Given the description of an element on the screen output the (x, y) to click on. 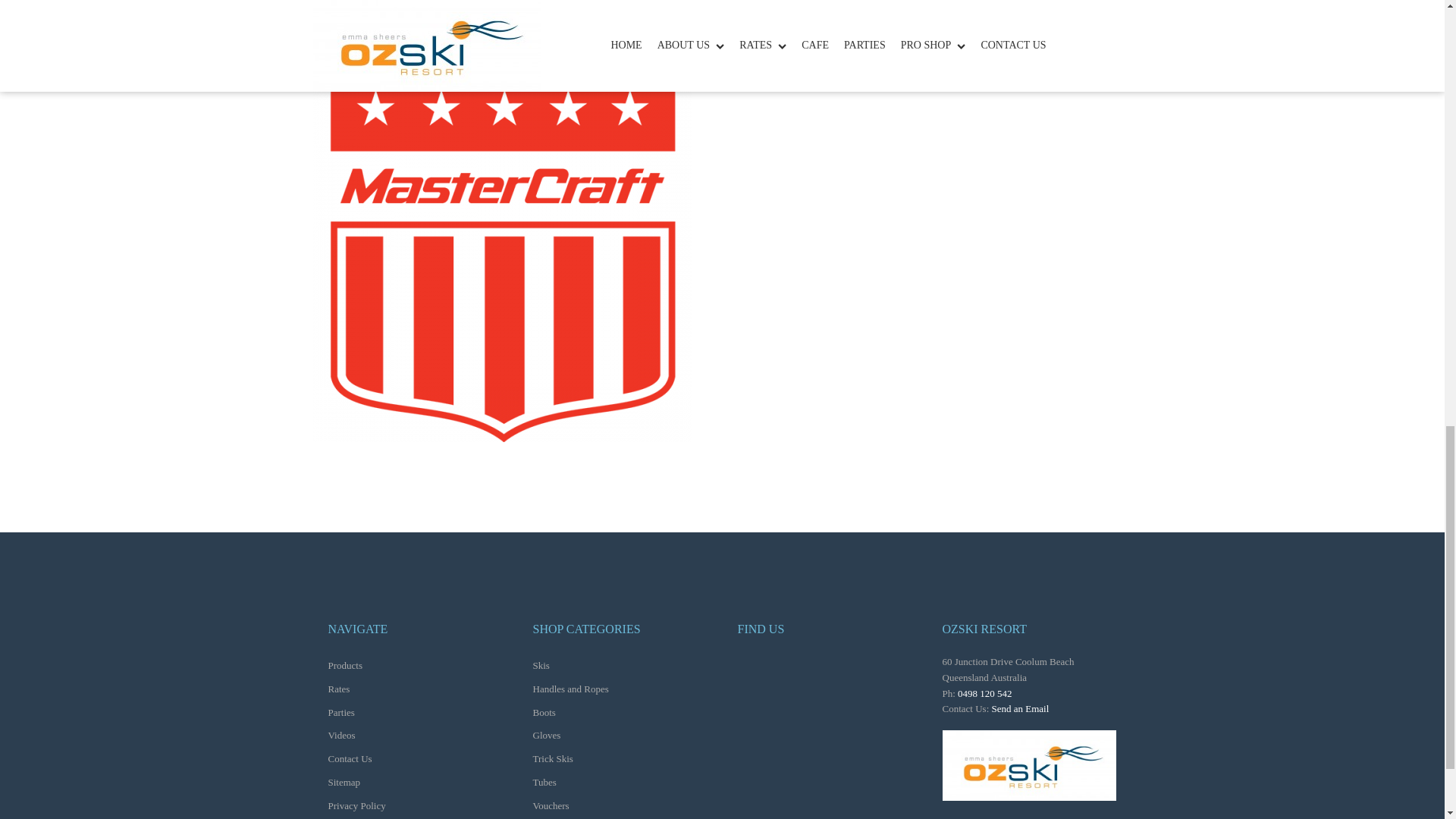
Products (363, 666)
Contact Us (363, 759)
Handles and Ropes (577, 689)
Parties (363, 712)
Trick Skis (577, 759)
Sitemap (363, 782)
0498 120 542 (984, 692)
Skis (577, 666)
Gloves (577, 735)
Vouchers (577, 806)
